Given the description of an element on the screen output the (x, y) to click on. 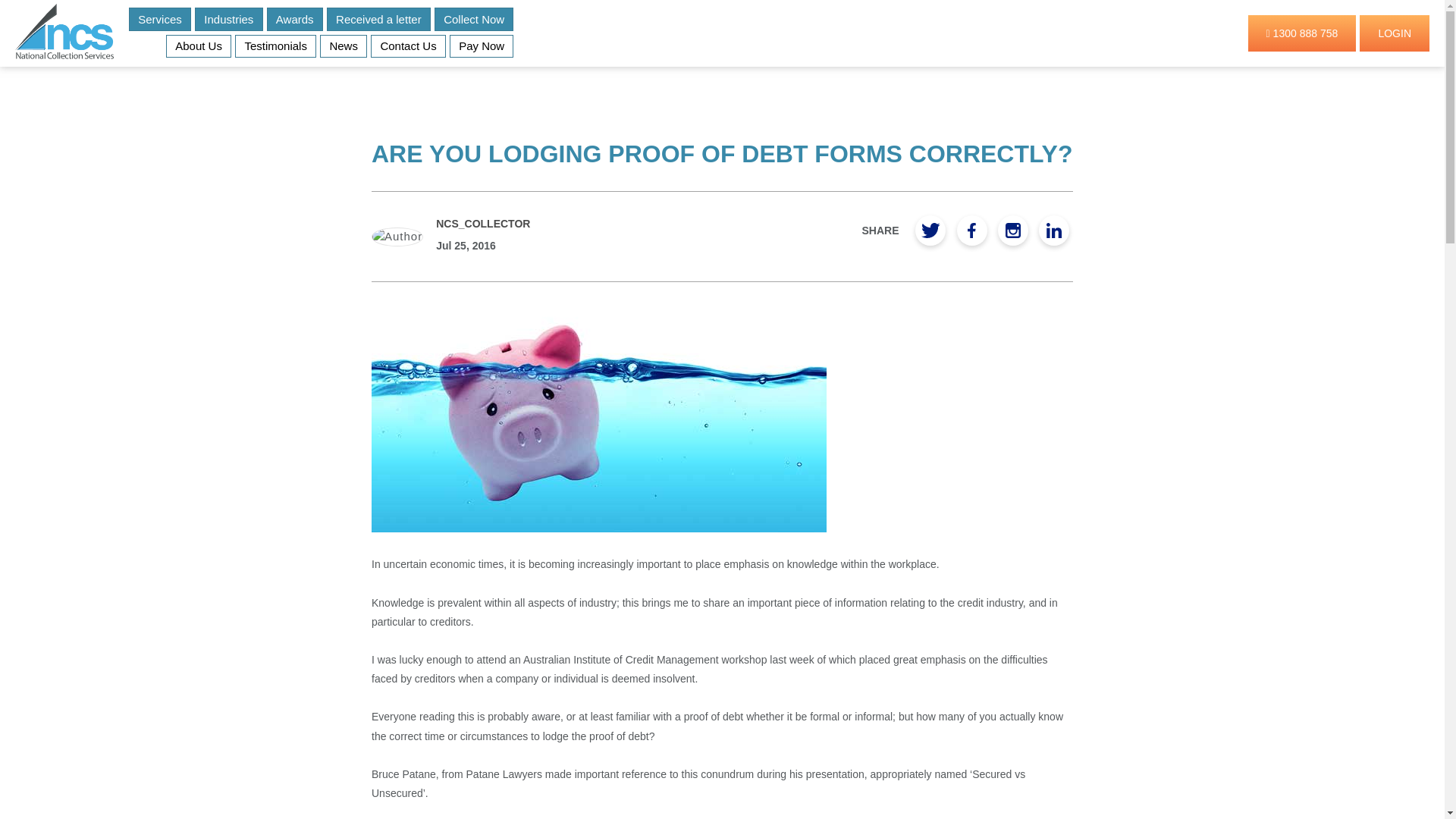
Services (159, 19)
News (343, 46)
Testimonials (274, 46)
Awards (294, 19)
Collect Now (473, 19)
About Us (198, 46)
Received a letter (378, 19)
1300 888 758 (1301, 33)
Pay Now (481, 46)
Contact Us (408, 46)
LOGIN (1394, 33)
Industries (229, 19)
